Given the description of an element on the screen output the (x, y) to click on. 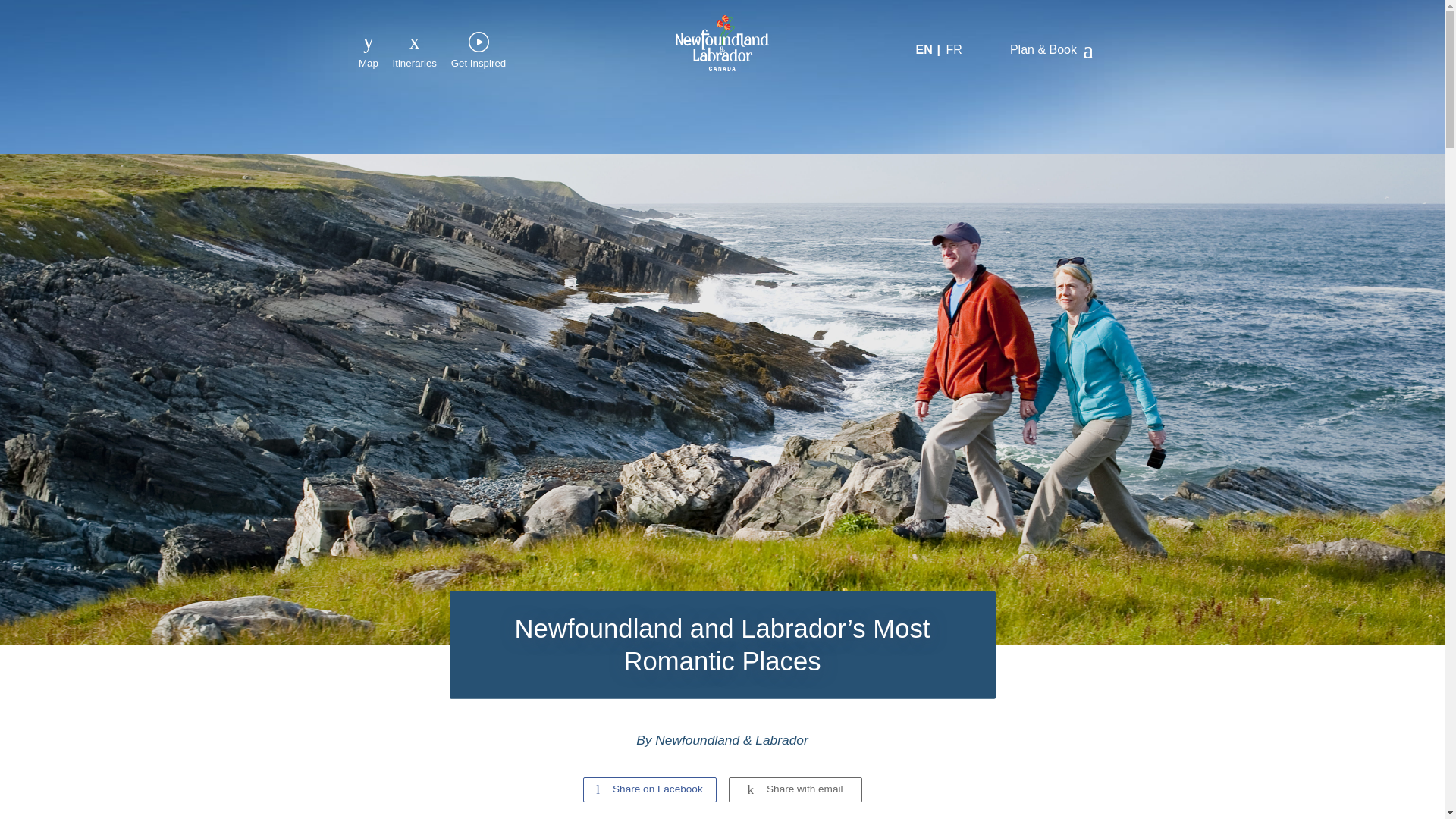
Newfoundland and Labrador, Canada (722, 42)
Itineraries (414, 50)
Get Inspired (478, 50)
